Given the description of an element on the screen output the (x, y) to click on. 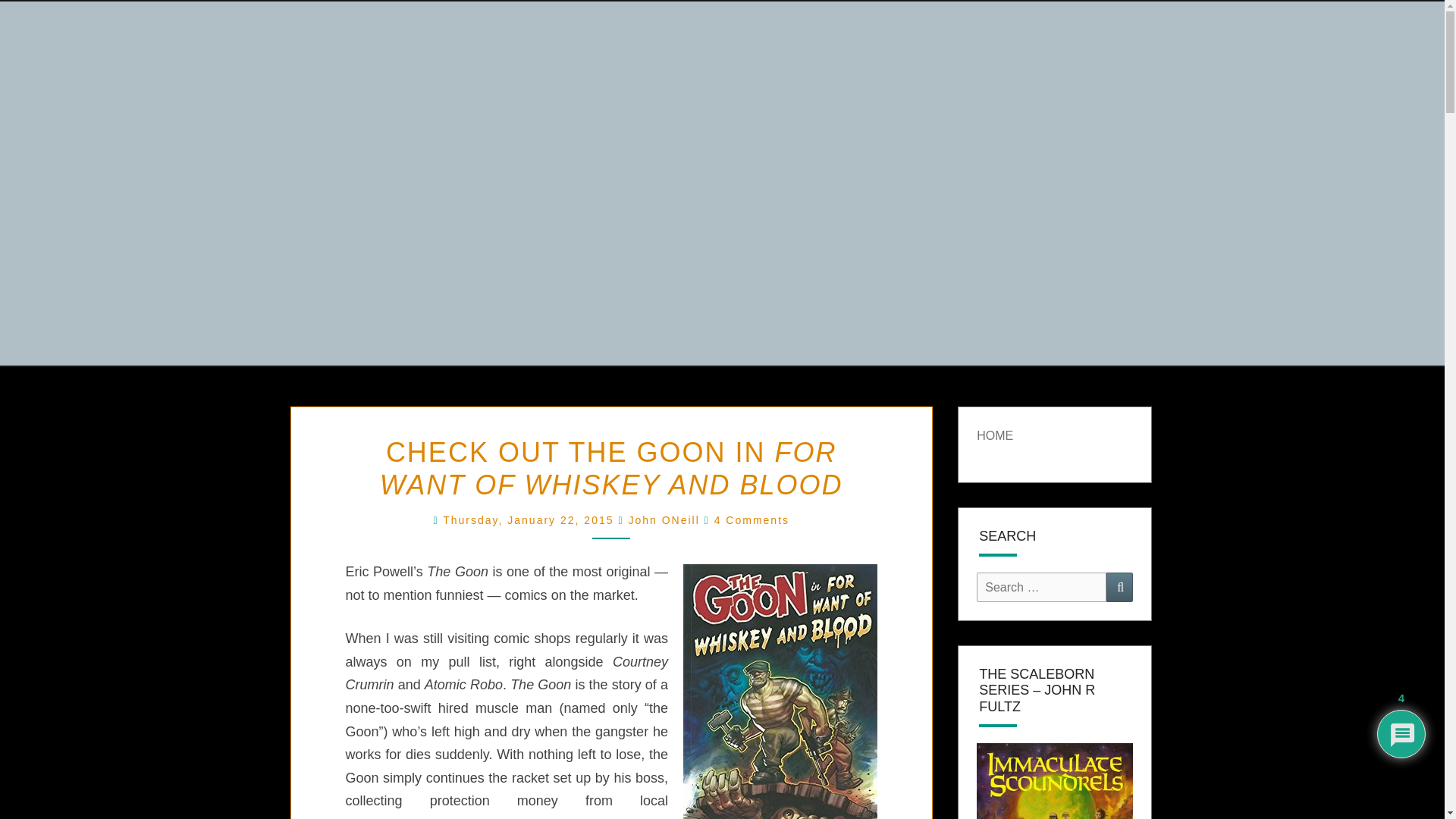
View all posts by John ONeill (662, 520)
1:49 pm (529, 520)
HOME (994, 435)
John ONeill (662, 520)
4 Comments (751, 520)
Search (1119, 586)
Thursday, January 22, 2015 (529, 520)
